Given the description of an element on the screen output the (x, y) to click on. 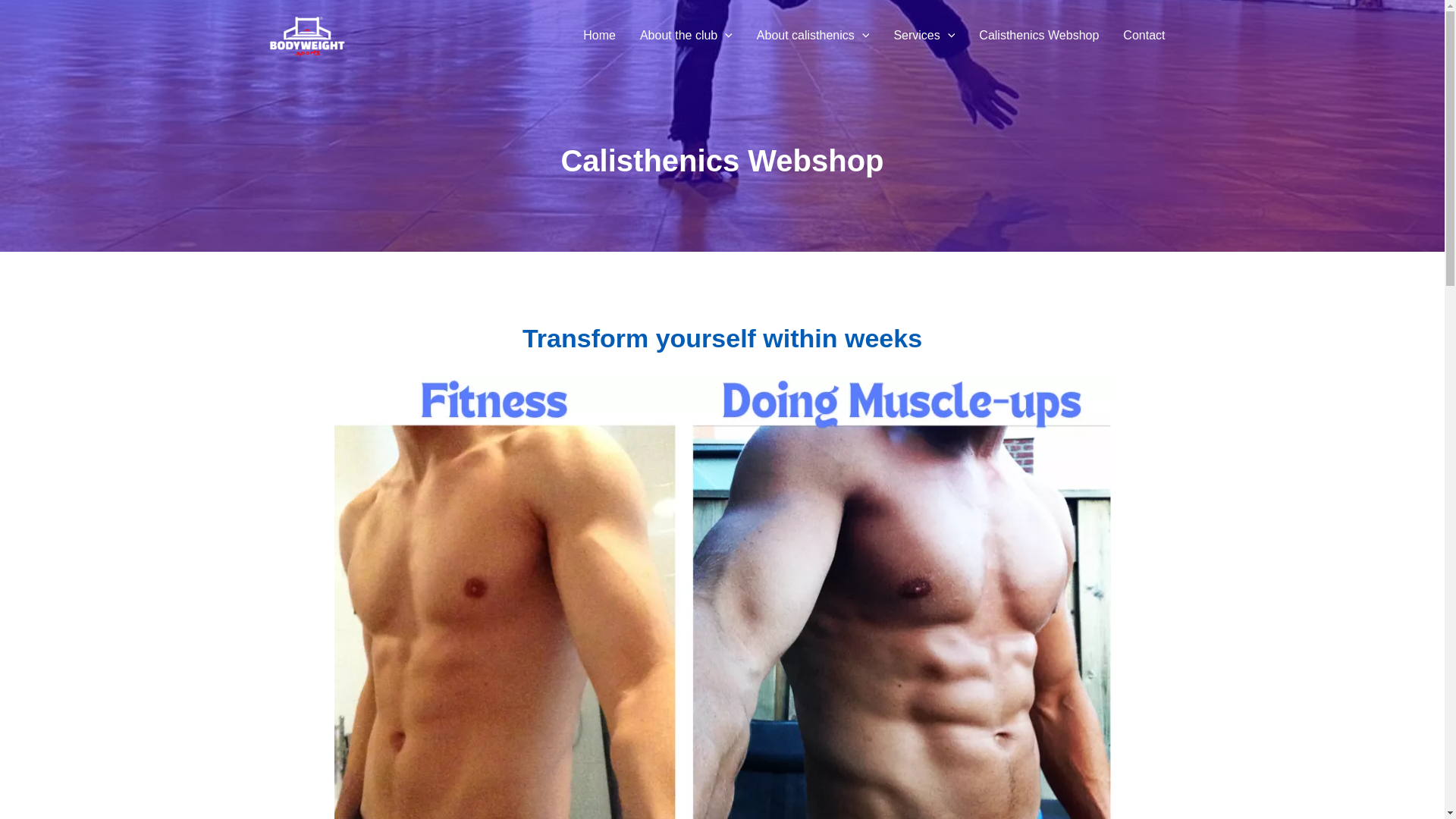
About the club (685, 34)
Services (923, 34)
Home (598, 34)
About calisthenics (813, 34)
